Given the description of an element on the screen output the (x, y) to click on. 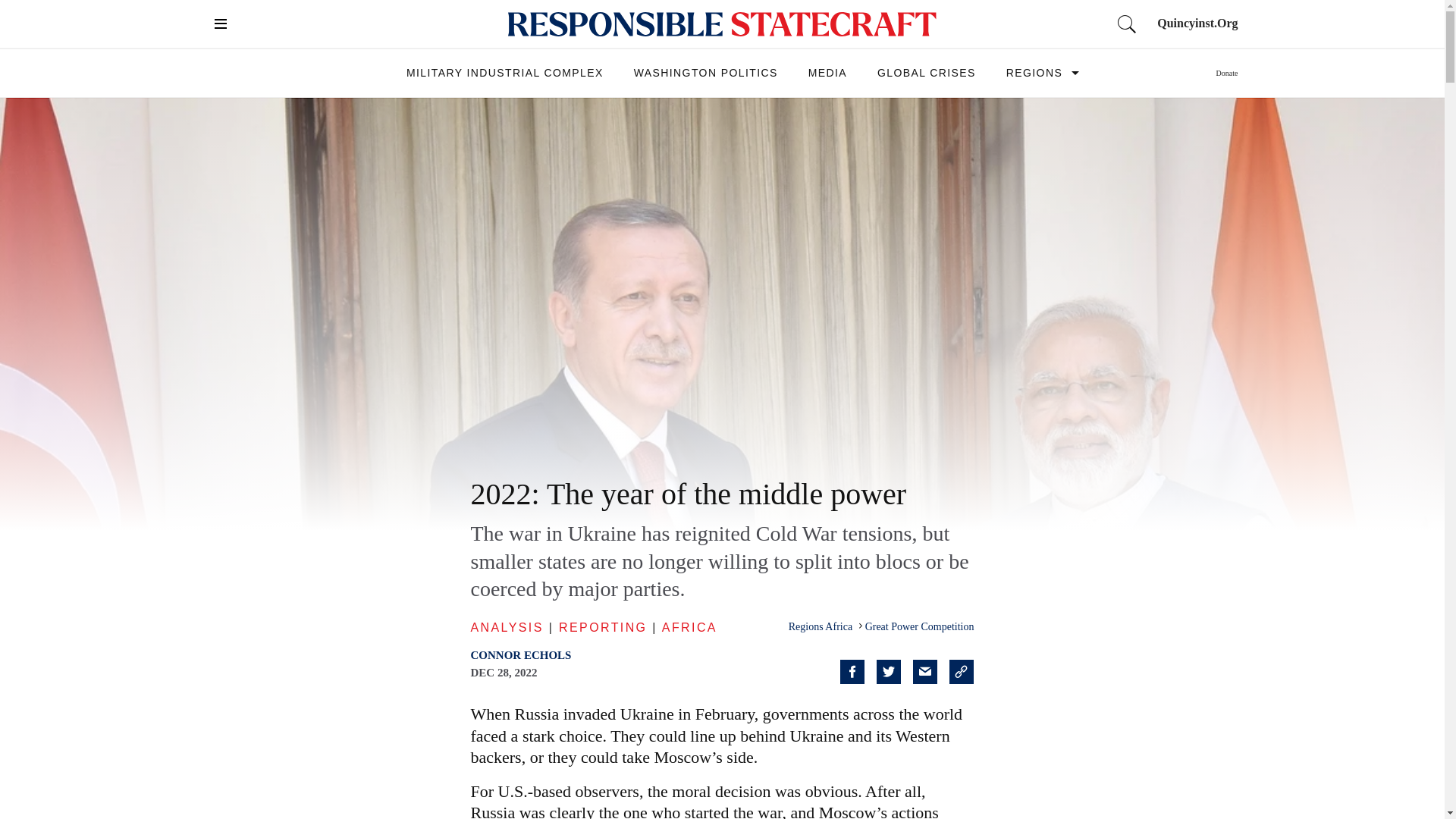
REPORTING (602, 626)
ANALYSIS (506, 626)
GLOBAL CRISES (926, 72)
MEDIA (827, 72)
Donate (1227, 72)
Primary Category (822, 626)
Copy this link to clipboard (961, 671)
Quincyinst.Org (1197, 22)
REGIONS (1034, 72)
Primary Tag (919, 626)
